Given the description of an element on the screen output the (x, y) to click on. 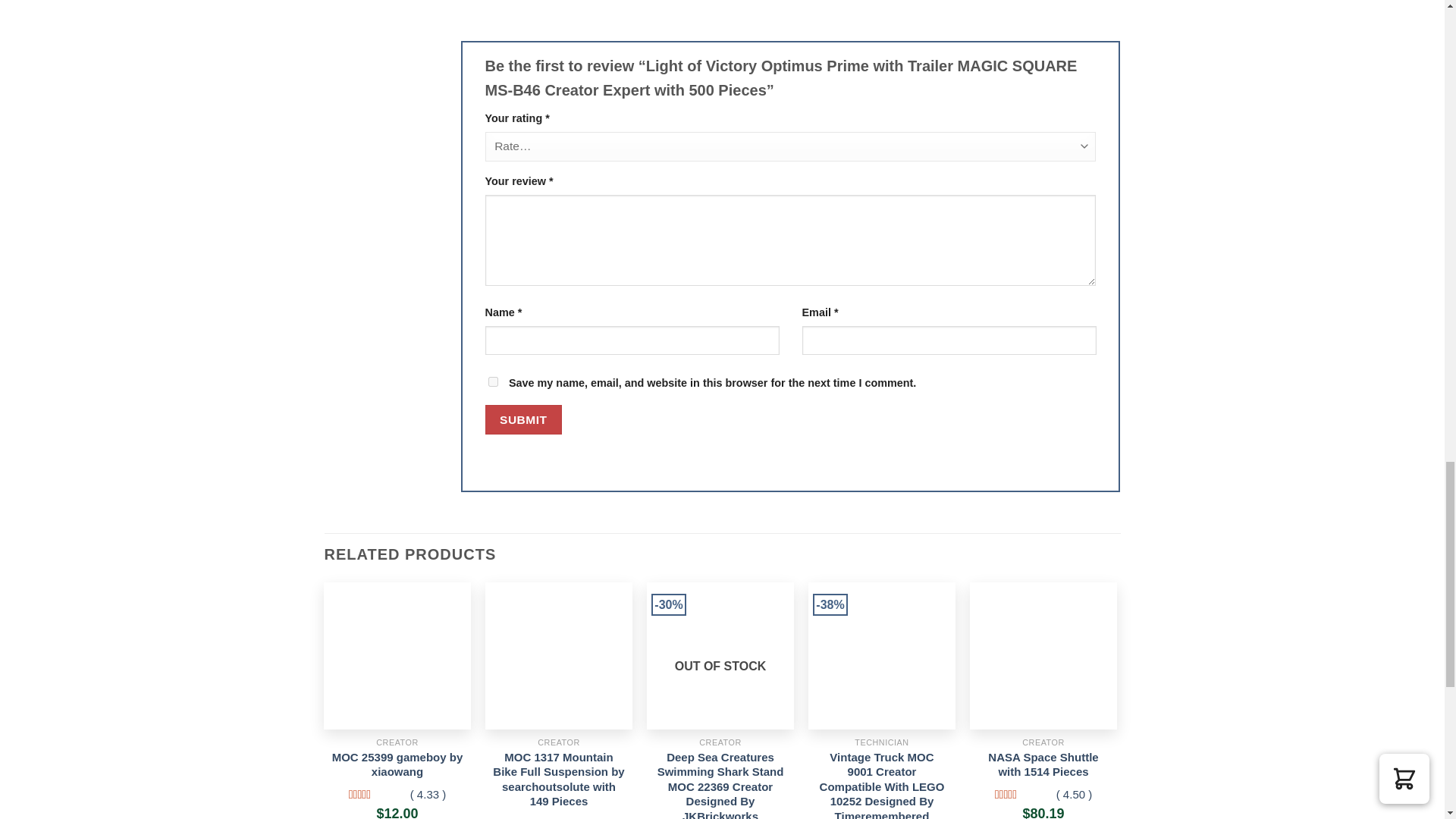
Submit (523, 419)
yes (492, 381)
